Given the description of an element on the screen output the (x, y) to click on. 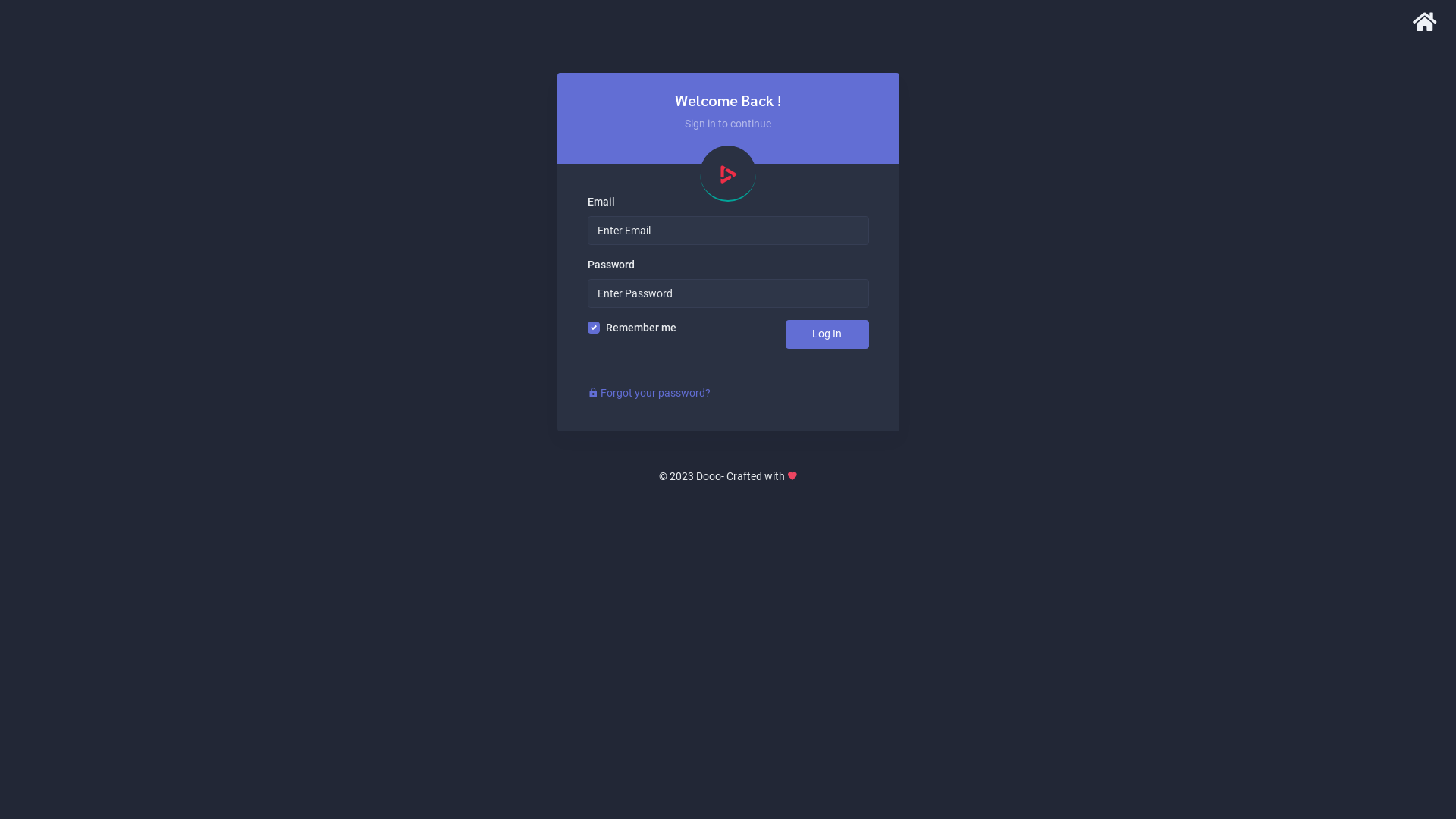
Forgot your password? Element type: text (647, 392)
Log In Element type: text (827, 334)
